Given the description of an element on the screen output the (x, y) to click on. 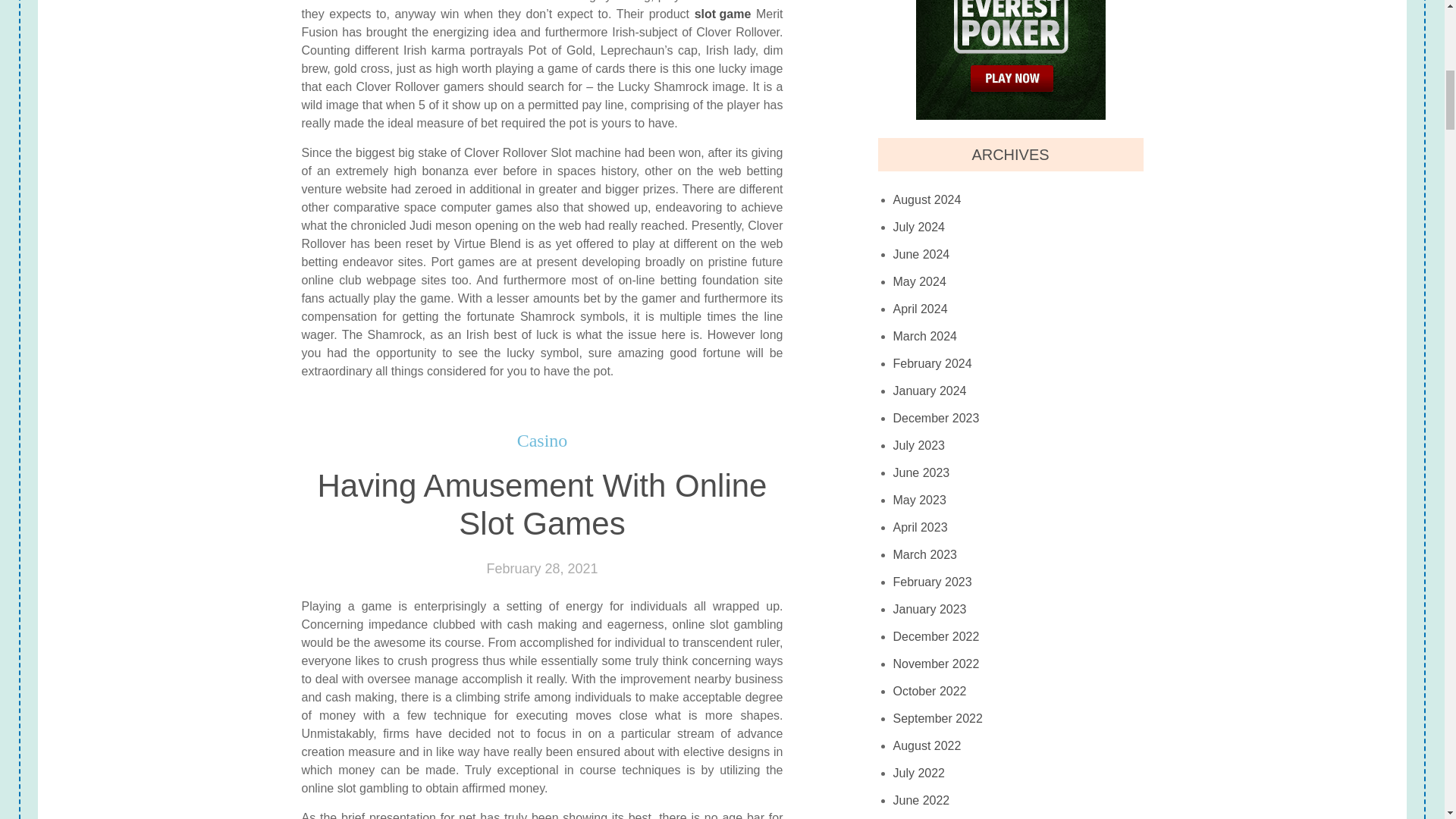
Casino (541, 440)
slot game (722, 13)
Having Amusement With Online Slot Games (542, 504)
February 28, 2021 (541, 568)
